Given the description of an element on the screen output the (x, y) to click on. 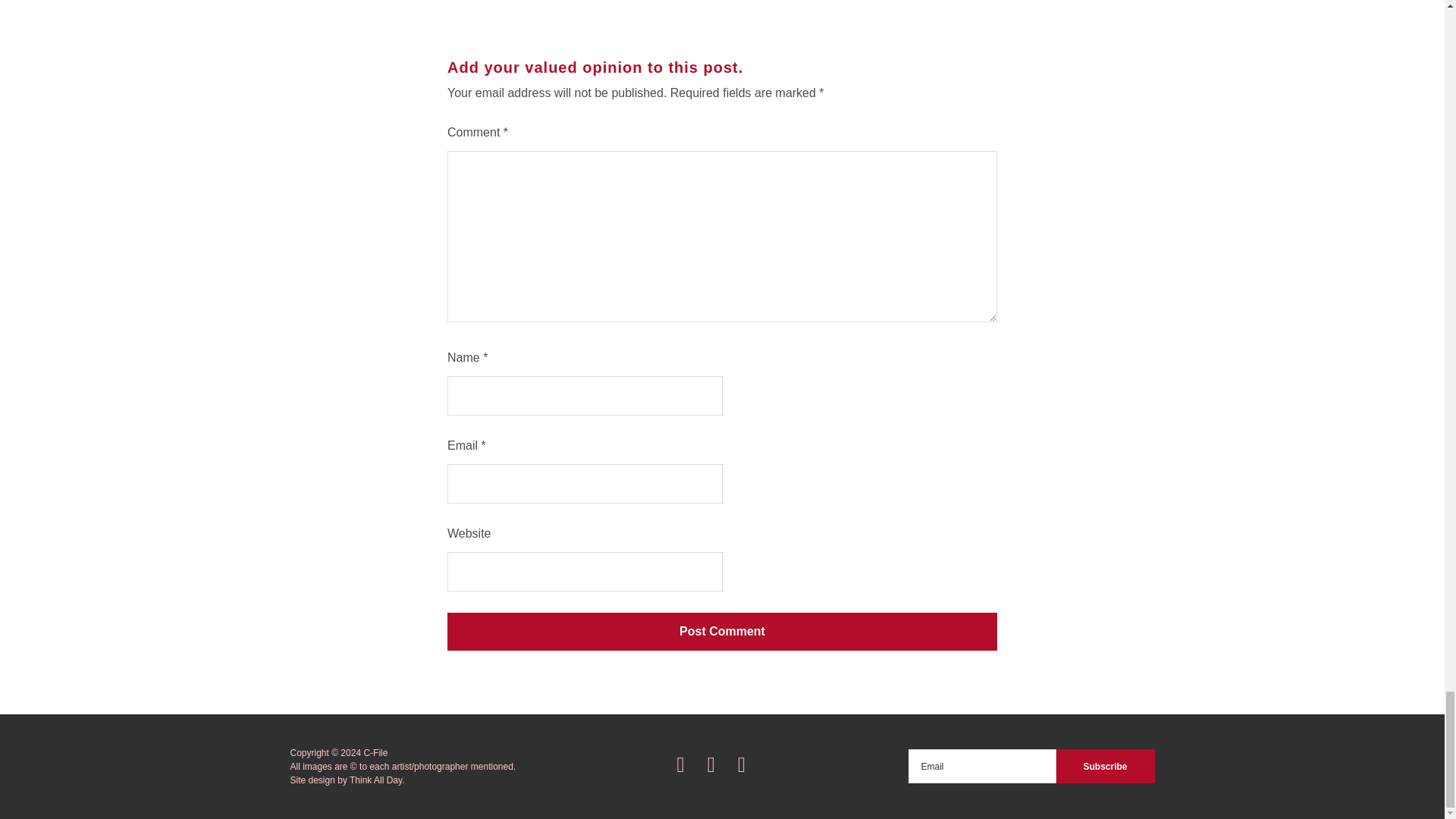
Post Comment (721, 631)
Subscribe (1104, 765)
